Given the description of an element on the screen output the (x, y) to click on. 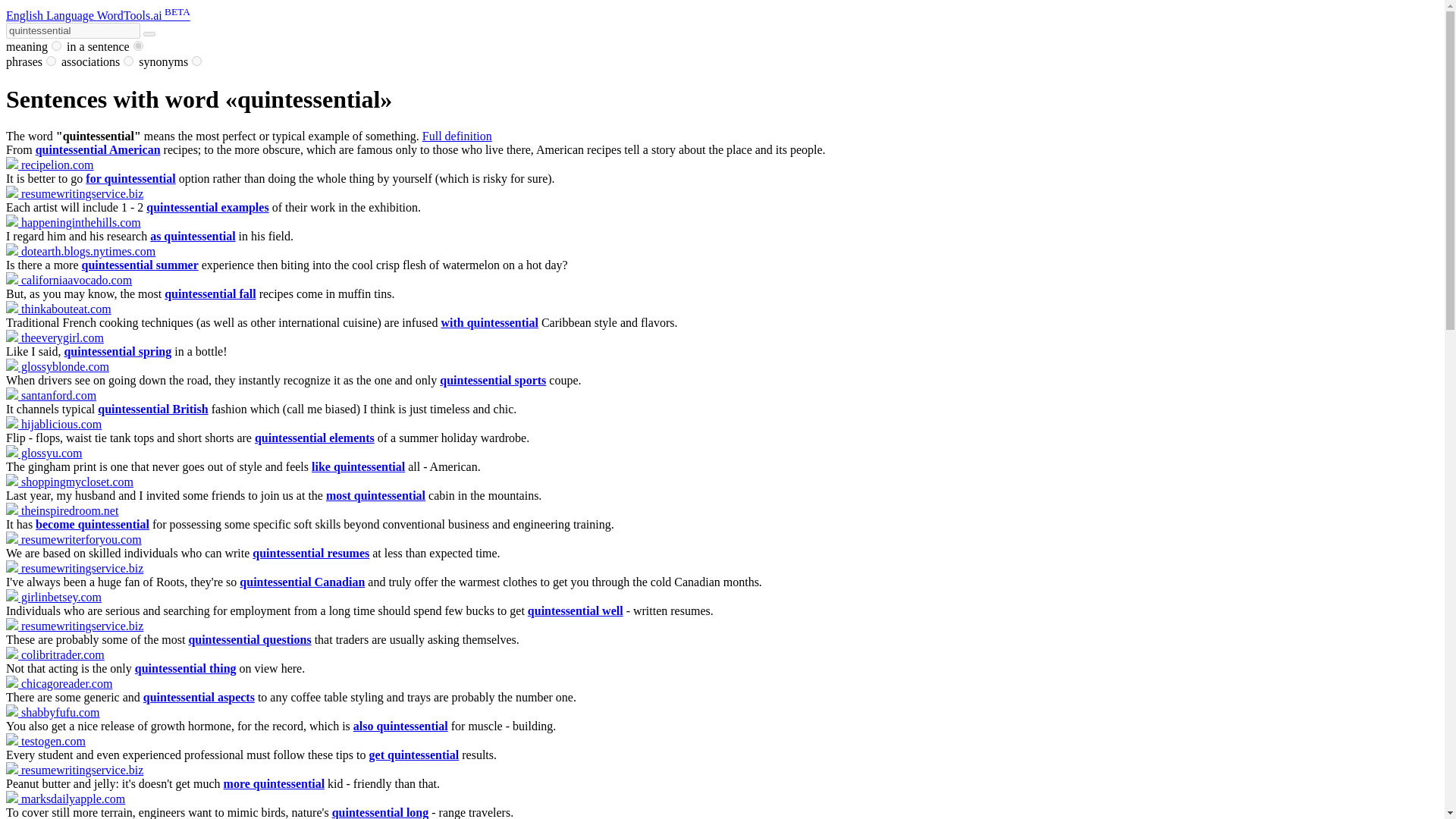
Sentences with QUINTESSENTIAL ELEMENTS (314, 437)
quintessential questions (249, 639)
glossyu.com (43, 452)
quintessential well (575, 610)
quintessential Canadian (302, 581)
resumewritingservice.biz (73, 567)
quintessential thing (185, 667)
Sentences with QUINTESSENTIAL RESUMES (310, 553)
thinkabouteat.com (58, 308)
quintessential spring (117, 350)
resumewritingservice.biz (73, 193)
def (55, 45)
sentence (137, 45)
quintessential resumes (310, 553)
syn (197, 61)
